Given the description of an element on the screen output the (x, y) to click on. 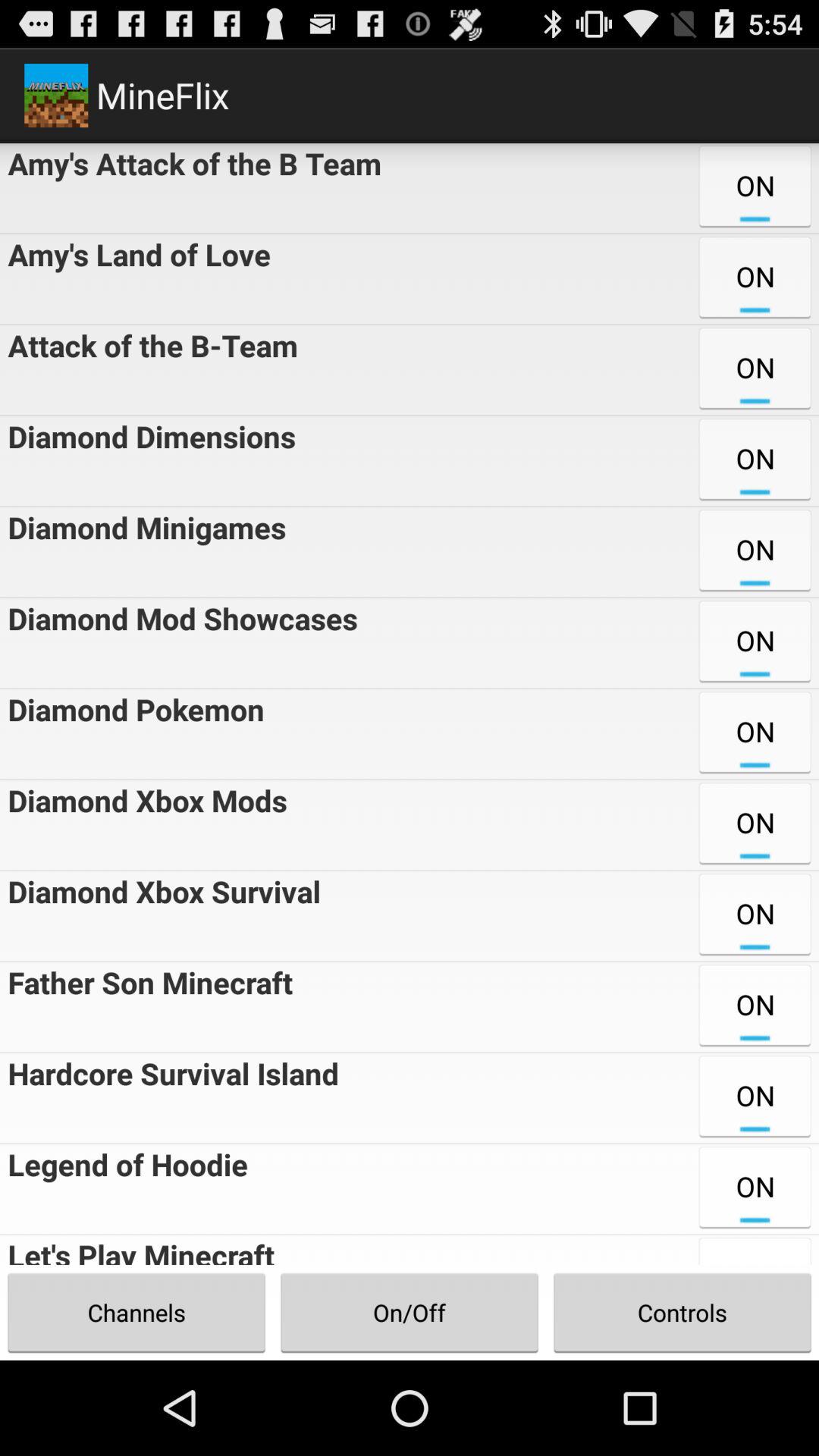
open the diamond mod showcases icon (178, 643)
